Given the description of an element on the screen output the (x, y) to click on. 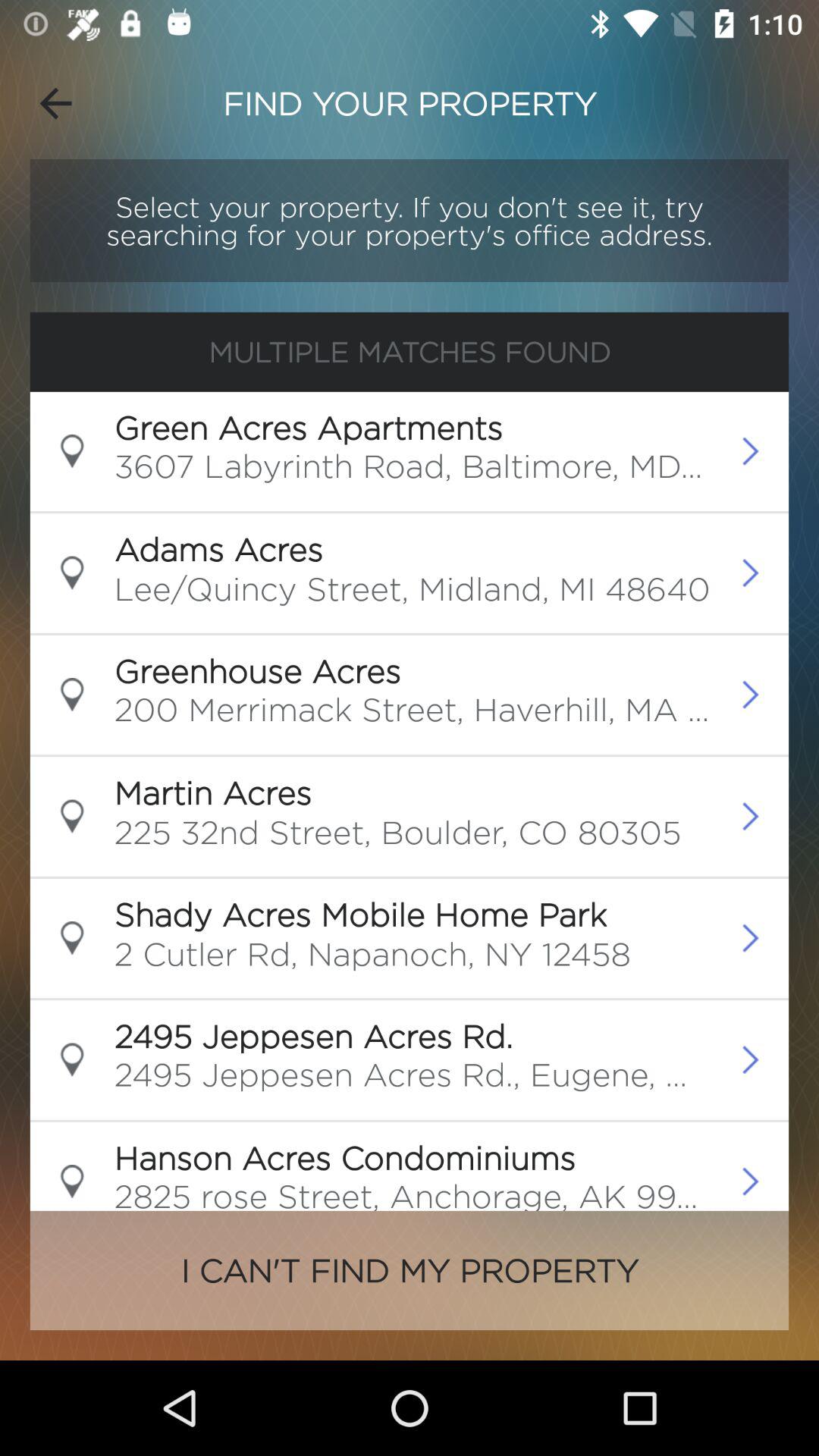
tap greenhouse acres icon (257, 670)
